Given the description of an element on the screen output the (x, y) to click on. 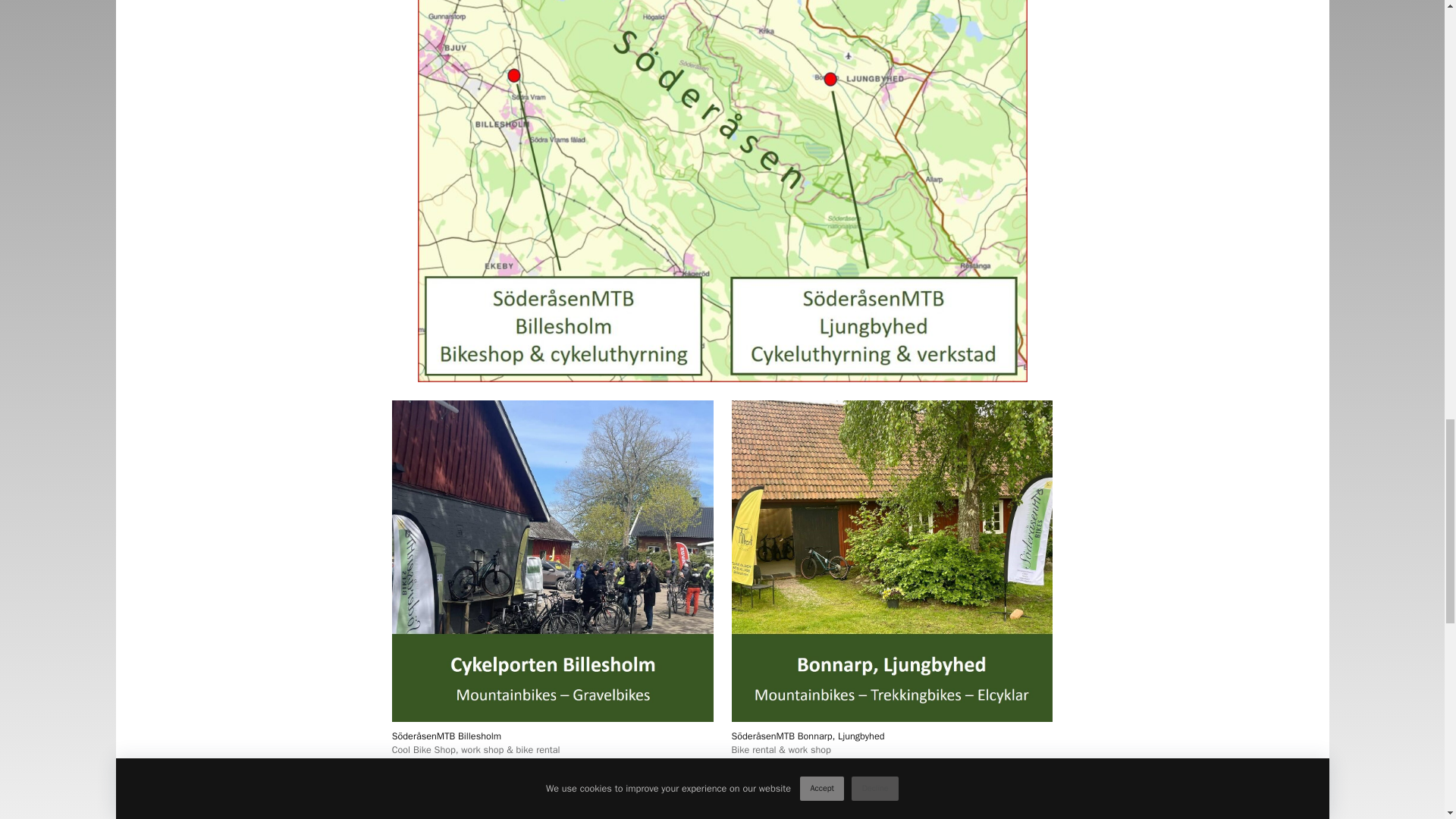
Find Cykelporten Billesh (508, 813)
